Given the description of an element on the screen output the (x, y) to click on. 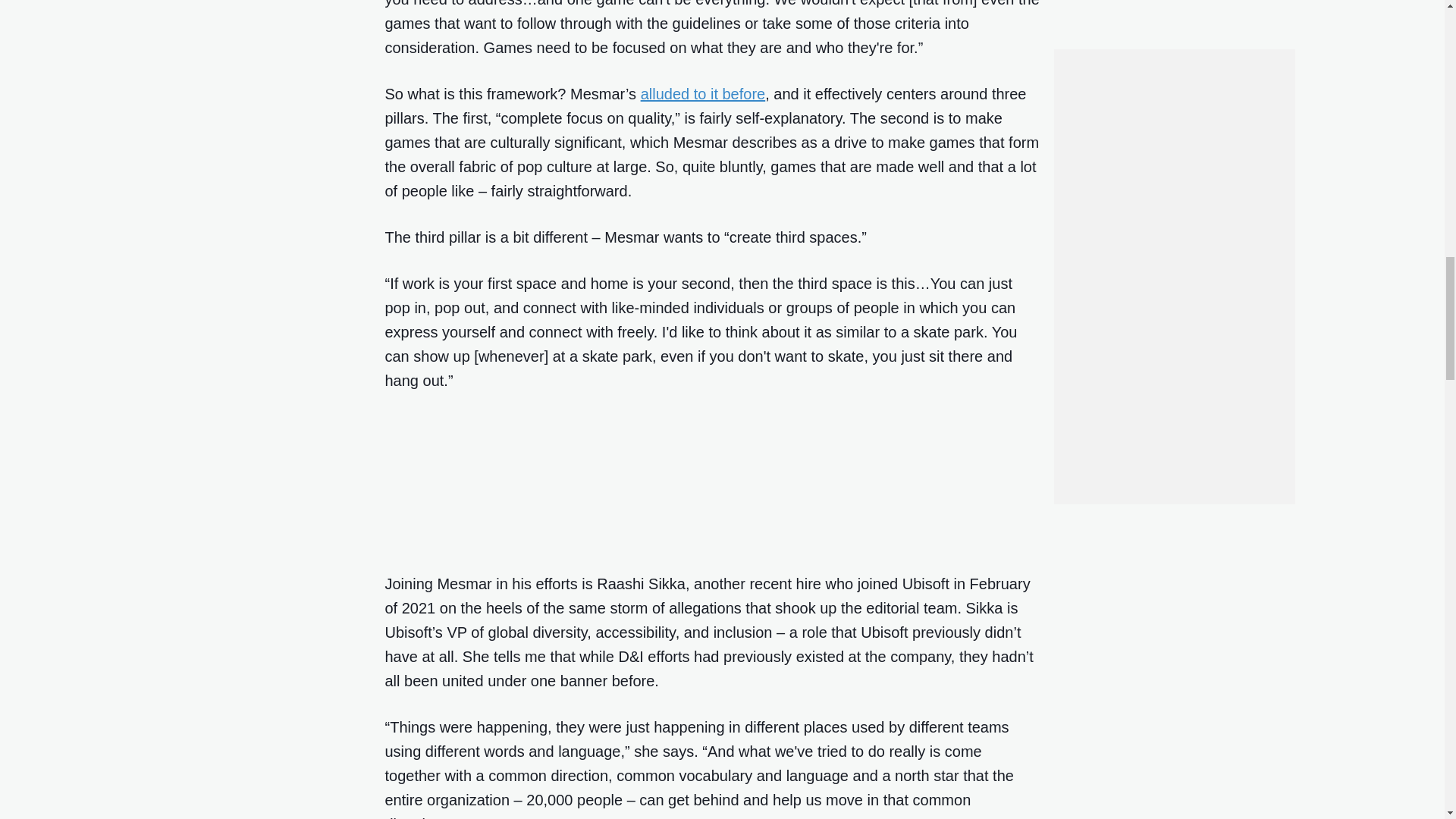
alluded to it before (702, 93)
